Given the description of an element on the screen output the (x, y) to click on. 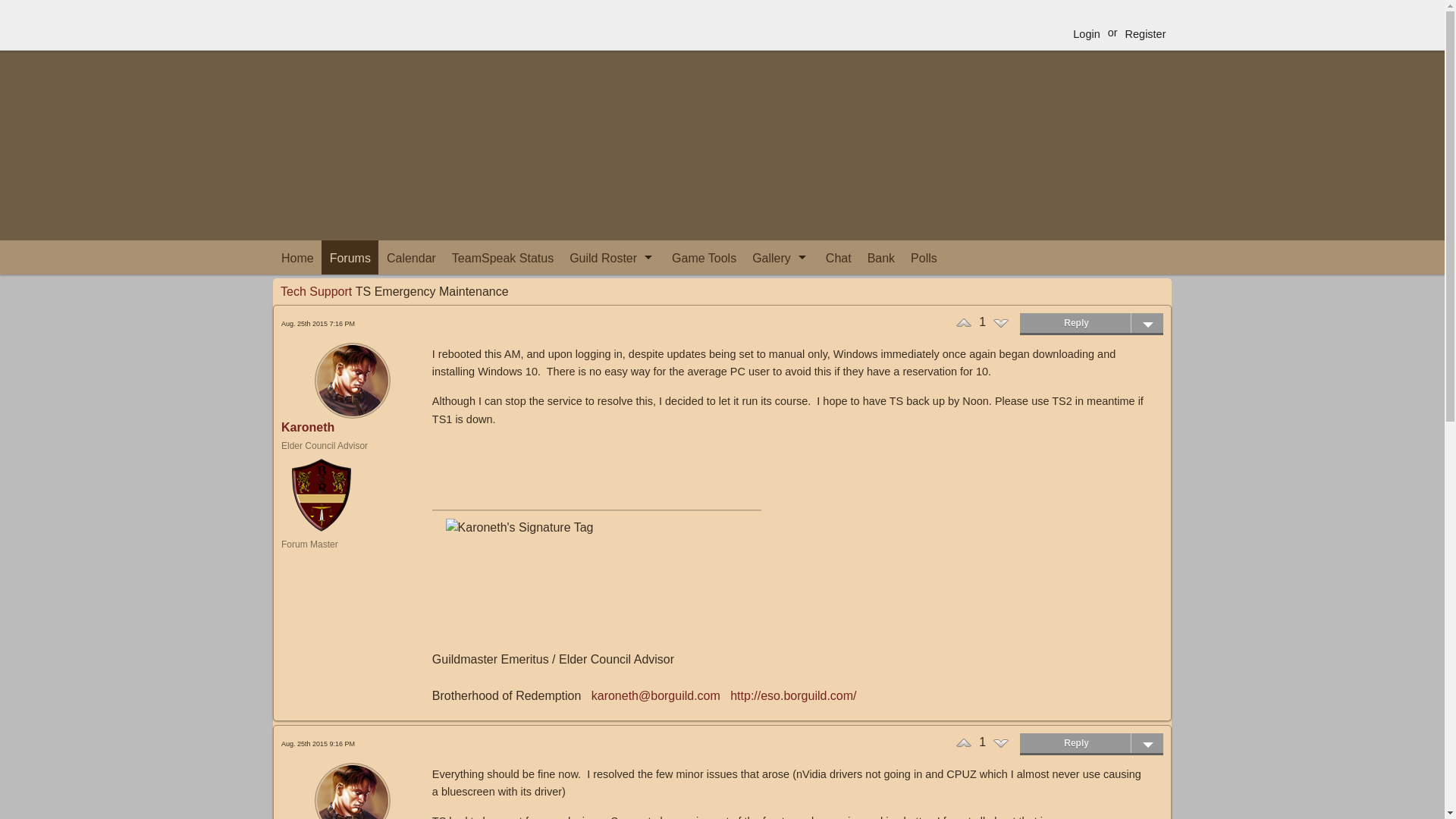
Down Vote (1000, 322)
Polls (923, 255)
Register (1145, 33)
Down Vote (1000, 742)
Chat (837, 255)
Game Tools (703, 255)
Karoneth (307, 427)
Reply (1091, 322)
TeamSpeak Status (502, 255)
Register for an Account (1145, 33)
File Library (780, 314)
Guild Roster (611, 255)
Reply (1091, 742)
Login to this Site (1085, 33)
Members (611, 287)
